Given the description of an element on the screen output the (x, y) to click on. 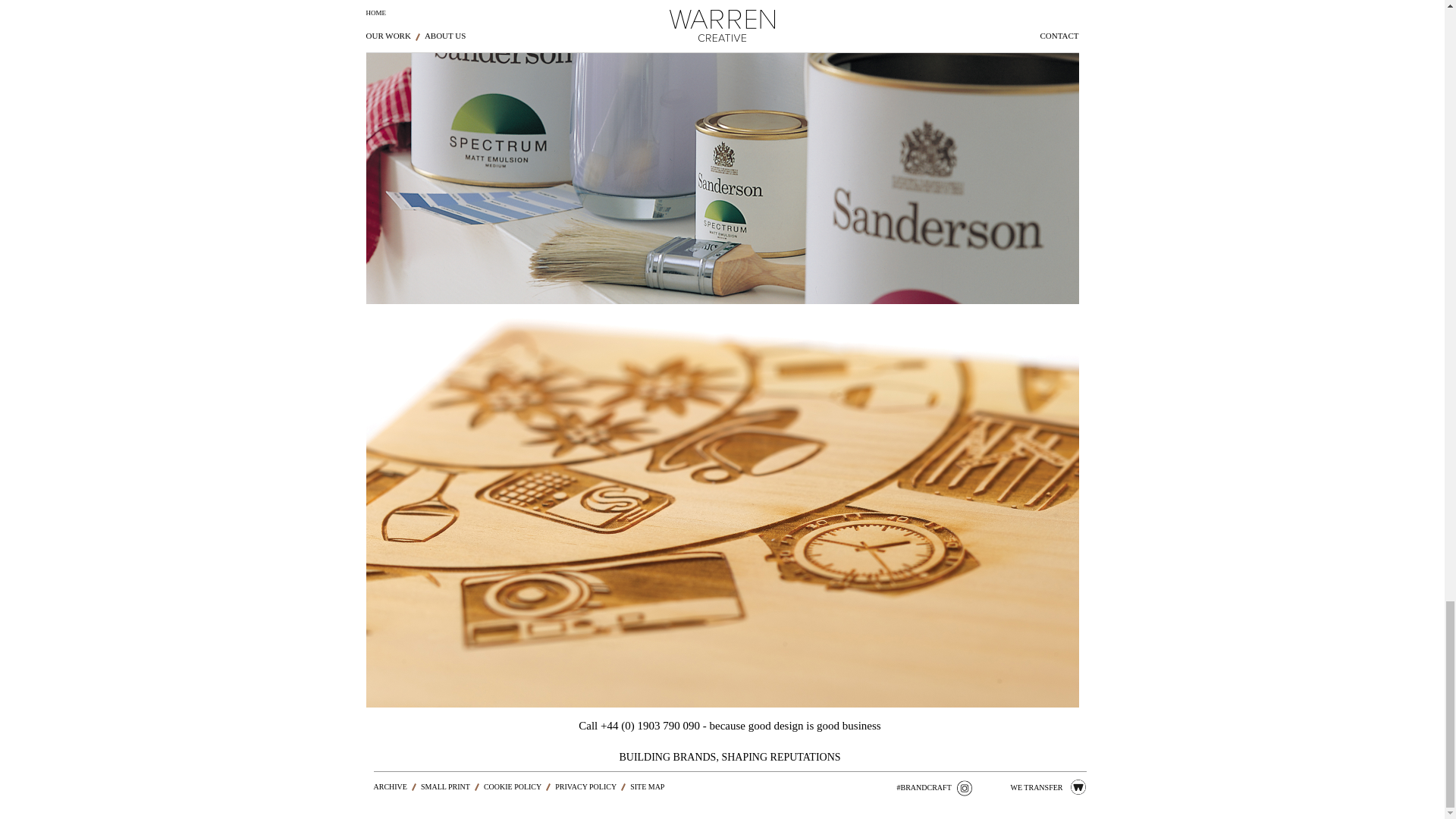
ARCHIVE (389, 787)
SMALL PRINT (445, 787)
SITE MAP (646, 787)
COOKIE POLICY (512, 787)
WE TRANSFER ICON (1077, 787)
PRIVACY POLICY (584, 787)
Instagram Icon (964, 787)
